Given the description of an element on the screen output the (x, y) to click on. 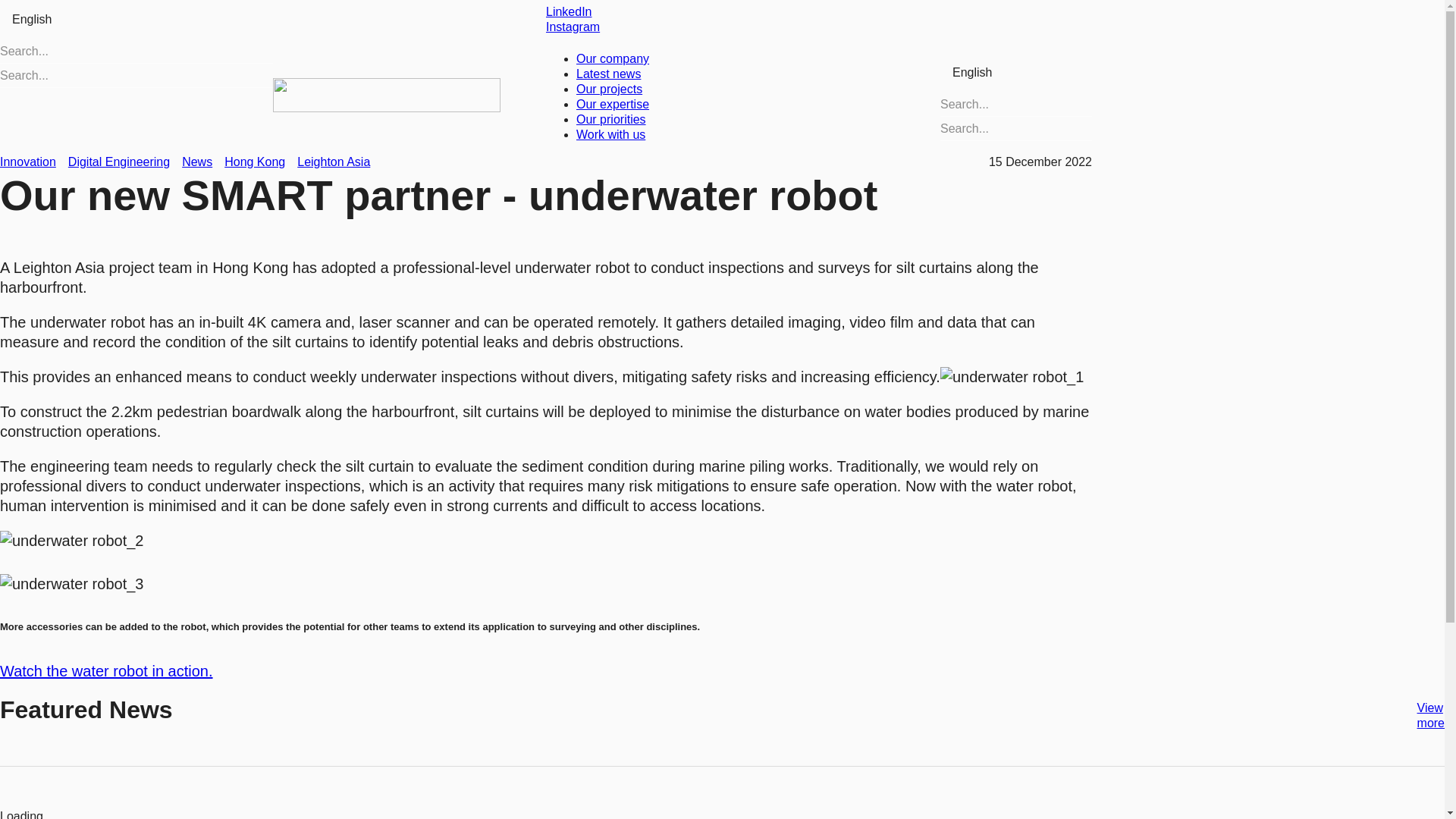
Instagram (572, 26)
Hong Kong (254, 161)
News (197, 161)
Our expertise (612, 103)
Latest news (608, 73)
Our projects (609, 88)
Innovation (28, 161)
Leighton Asia (333, 161)
Our company (612, 58)
Digital Engineering (119, 161)
Work with us (610, 133)
Watch the water robot in action. (106, 670)
Our priorities (611, 119)
LinkedIn (569, 11)
